Given the description of an element on the screen output the (x, y) to click on. 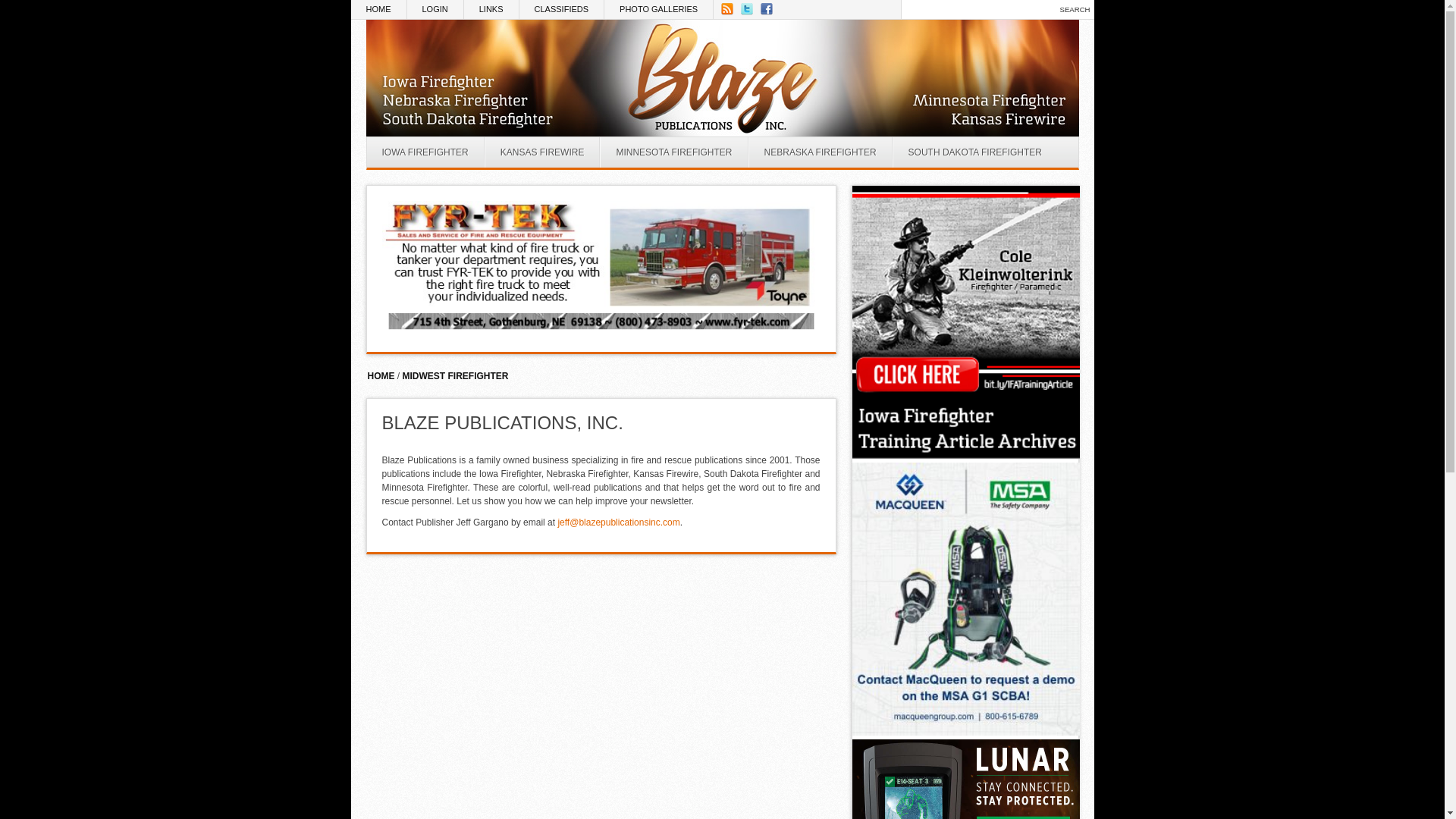
SOUTH DAKOTA FIREFIGHTER (974, 152)
MIDWEST FIREFIGHTER (455, 376)
Enter the terms you wish to search for. (976, 9)
NEBRASKA FIREFIGHTER (820, 152)
KANSAS FIREWIRE (541, 152)
CLASSIFIEDS (562, 9)
IOWA FIREFIGHTER (425, 152)
PHOTO GALLERIES (658, 9)
Iowa Firefighter (425, 152)
